Given the description of an element on the screen output the (x, y) to click on. 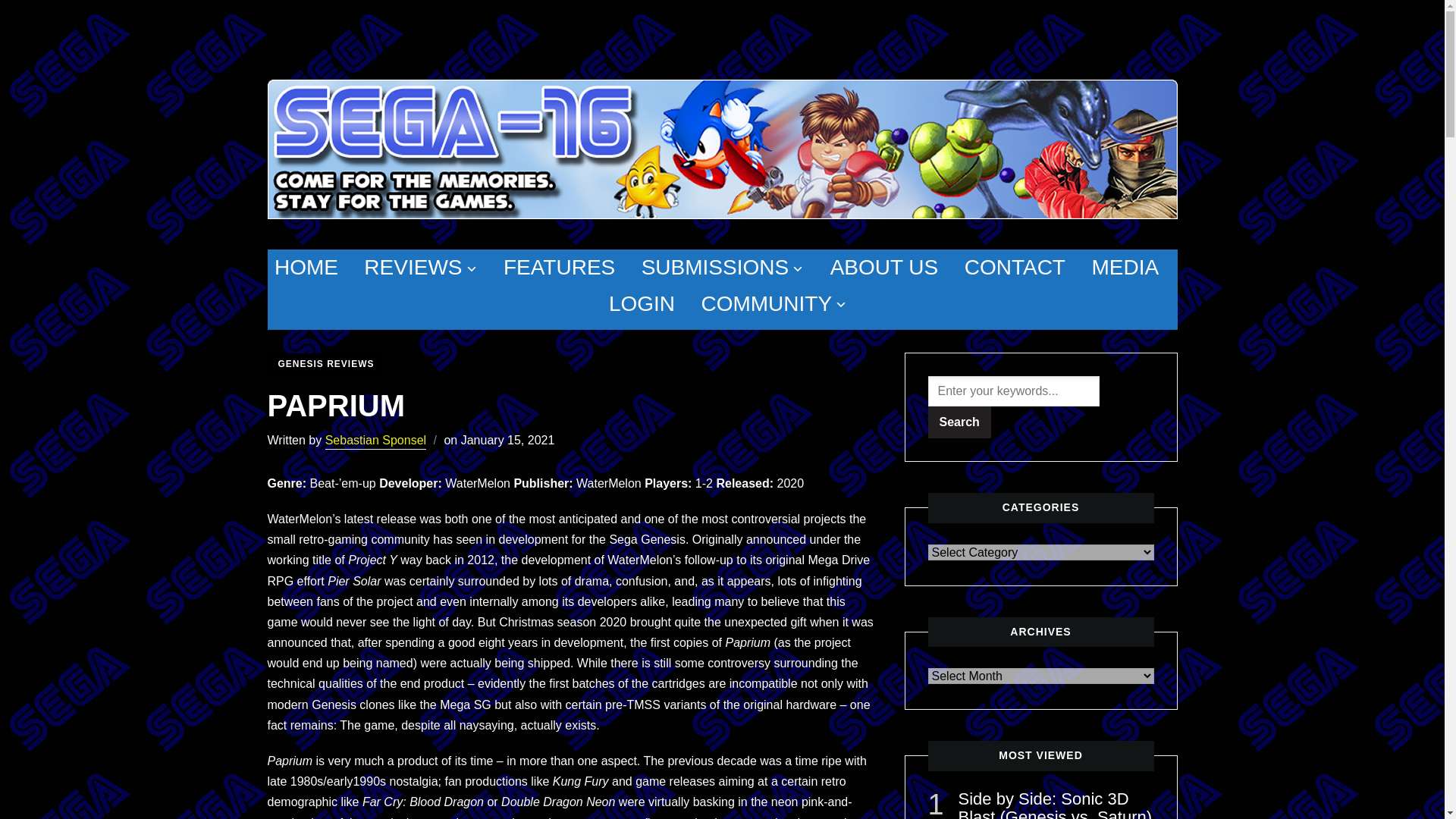
Search (959, 422)
Posts by Sebastian Sponsel (375, 441)
Search (959, 422)
